Given the description of an element on the screen output the (x, y) to click on. 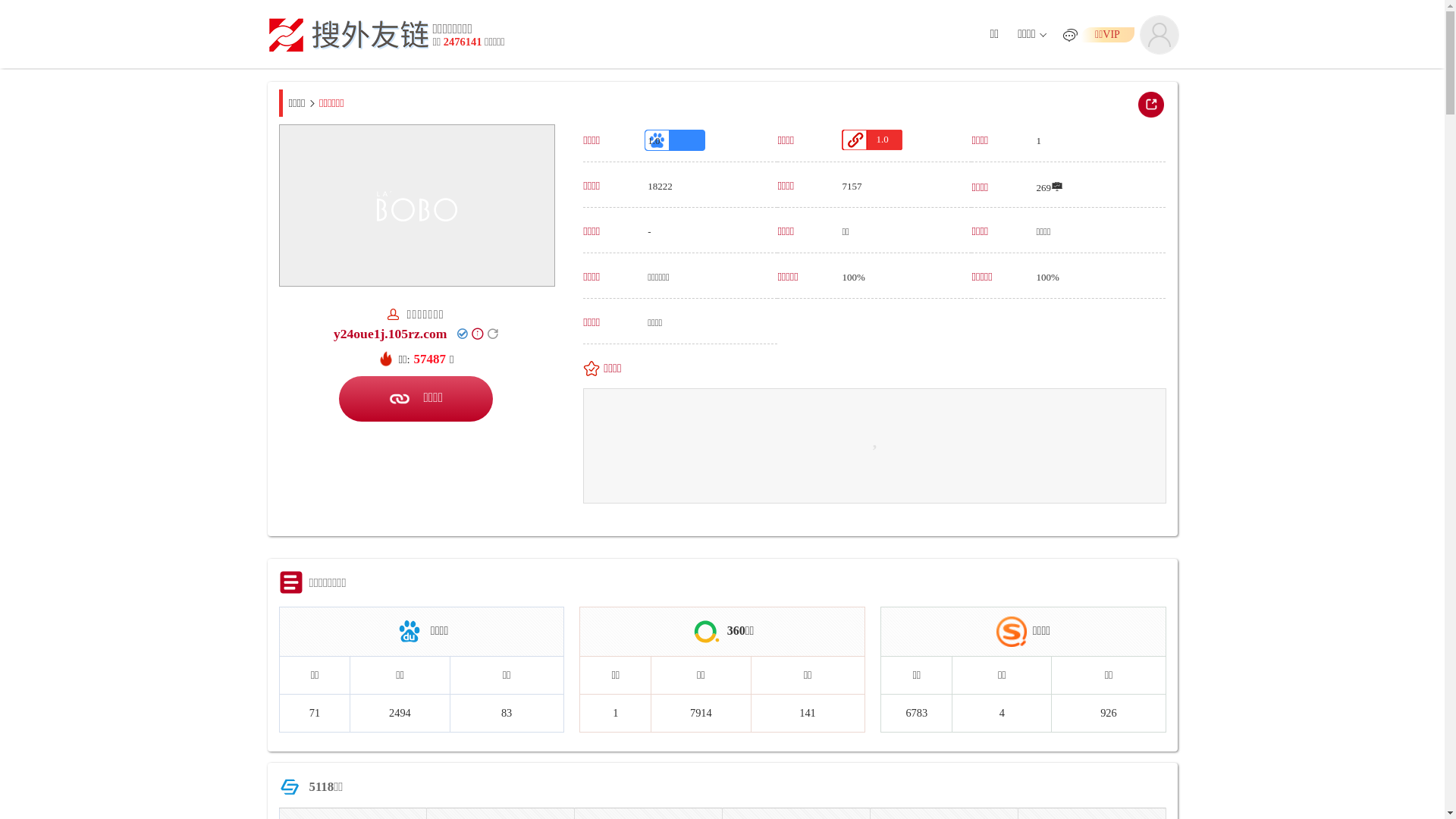
y24oue1j.105rz.com Element type: text (390, 333)
